Given the description of an element on the screen output the (x, y) to click on. 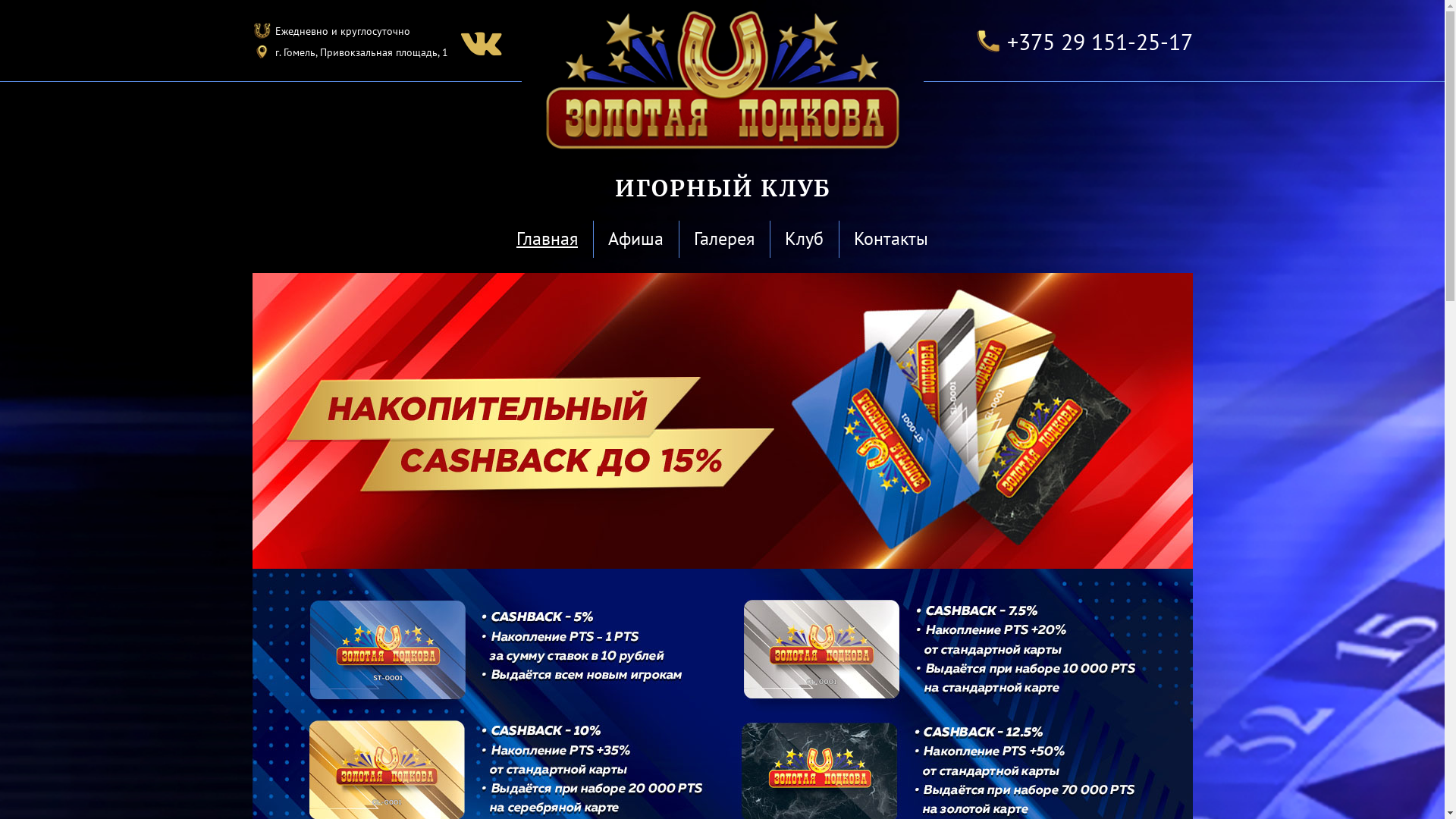
+375 29 151-25-17 Element type: text (1099, 41)
